Given the description of an element on the screen output the (x, y) to click on. 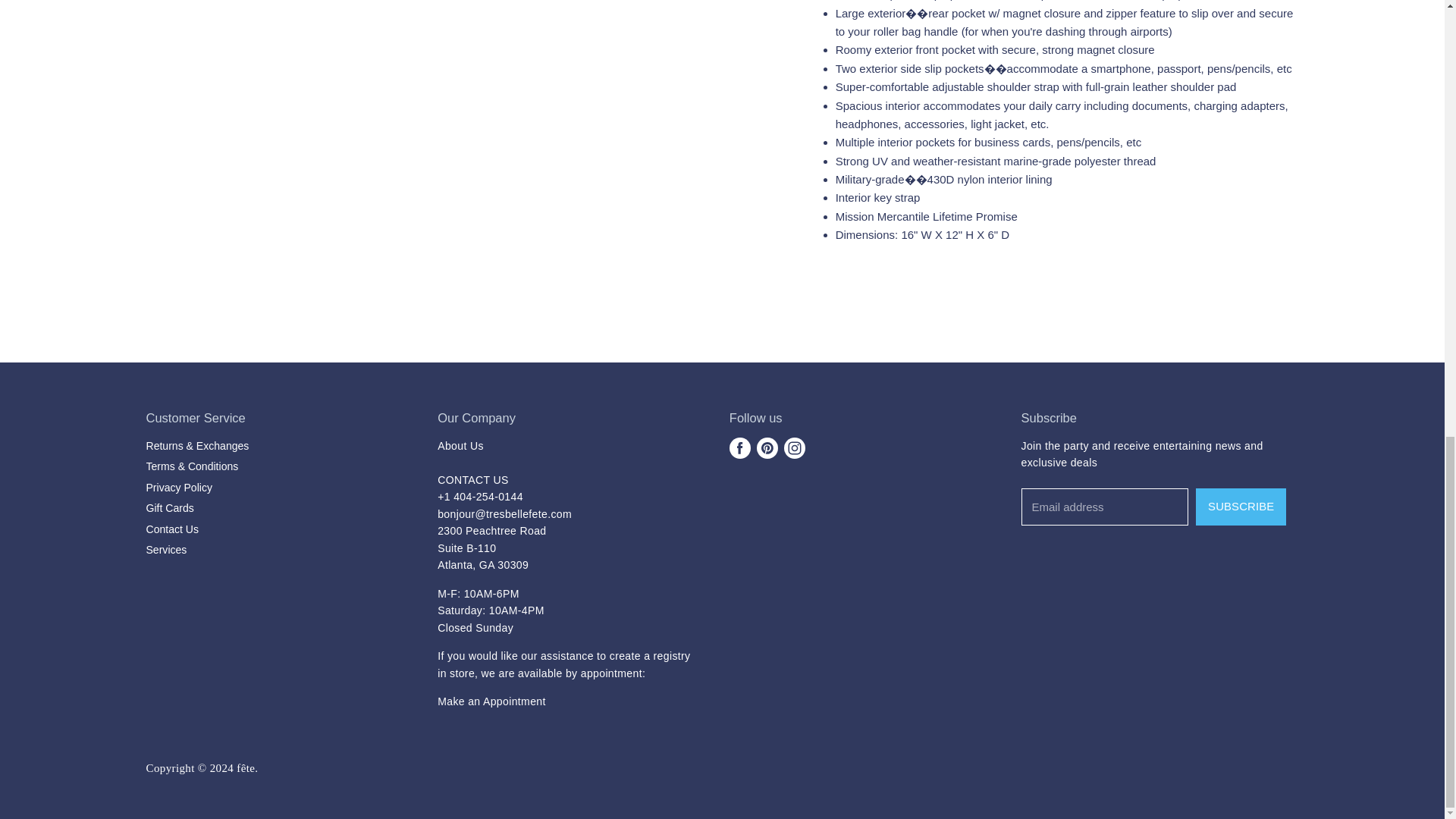
Facebook (740, 447)
Services (492, 701)
Pinterest (767, 447)
Instagram (794, 447)
About Us (460, 445)
